Given the description of an element on the screen output the (x, y) to click on. 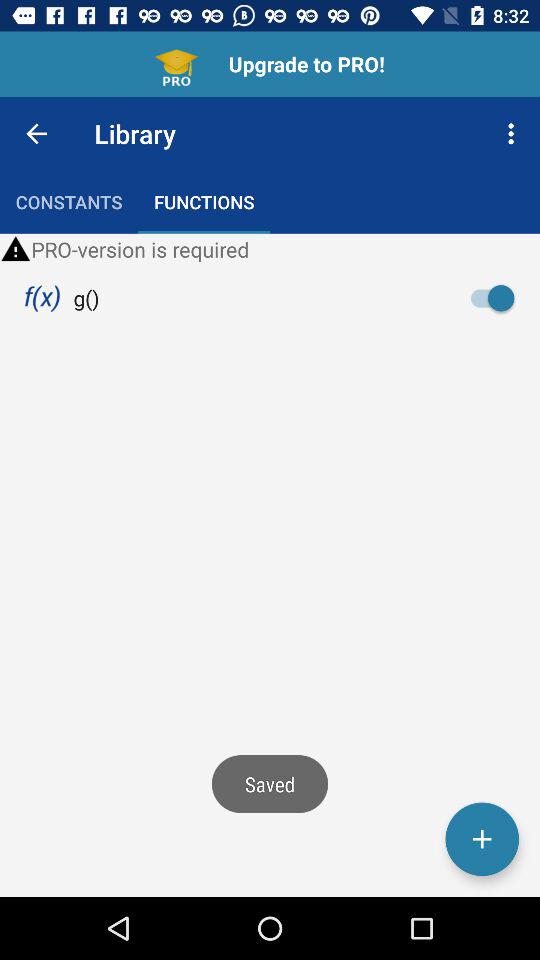
select the item next to library icon (36, 133)
